Given the description of an element on the screen output the (x, y) to click on. 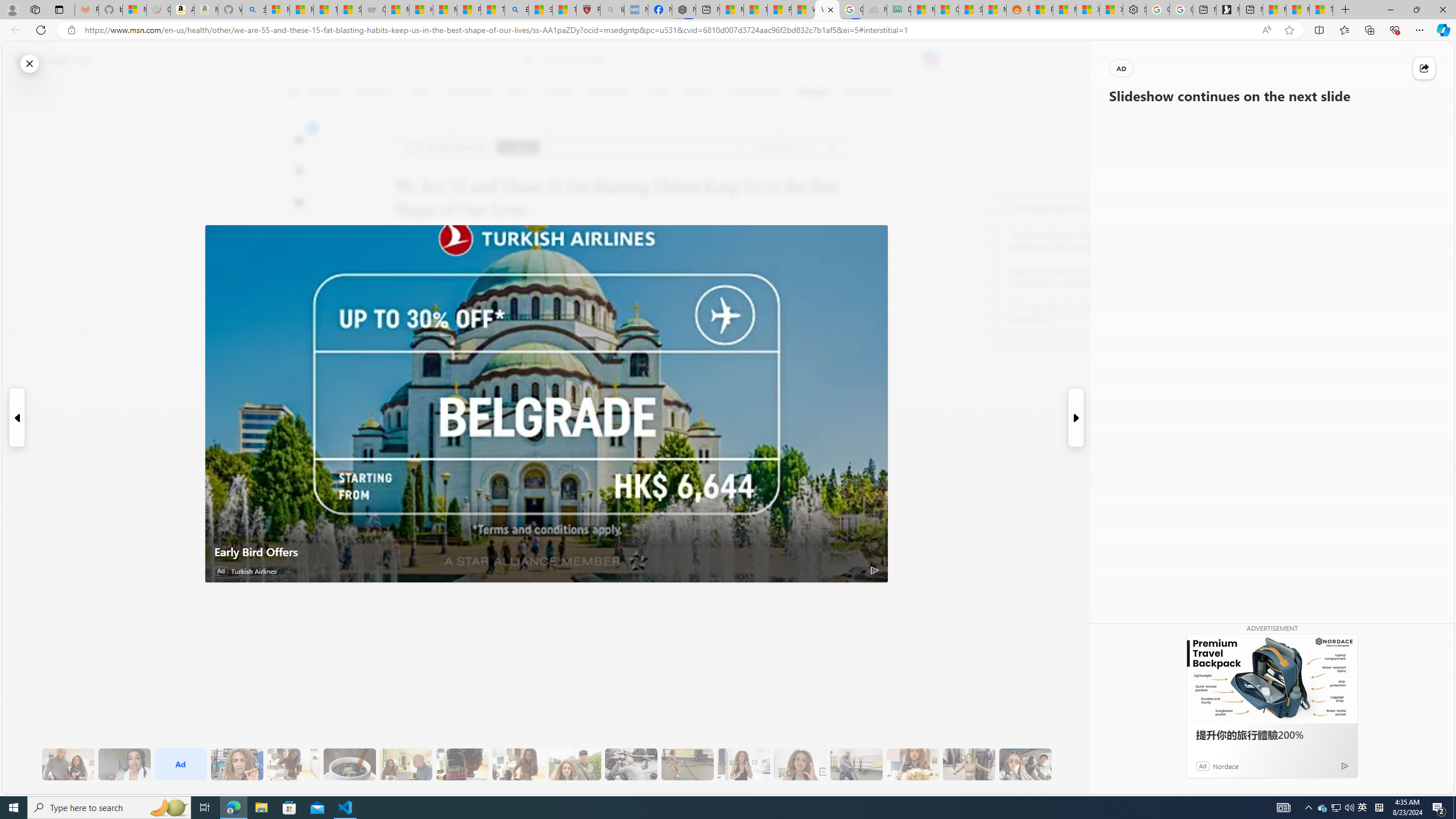
Fitness - MSN (779, 9)
15 They Also Indulge in a Low-Calorie Sweet Treat (968, 764)
15 They Also Indulge in a Low-Calorie Sweet Treat (968, 764)
8 Be Mindful of Coffee (349, 764)
Visit Body Network website (1145, 207)
Bing (515, 9)
Go to publisher's site (830, 146)
